Given the description of an element on the screen output the (x, y) to click on. 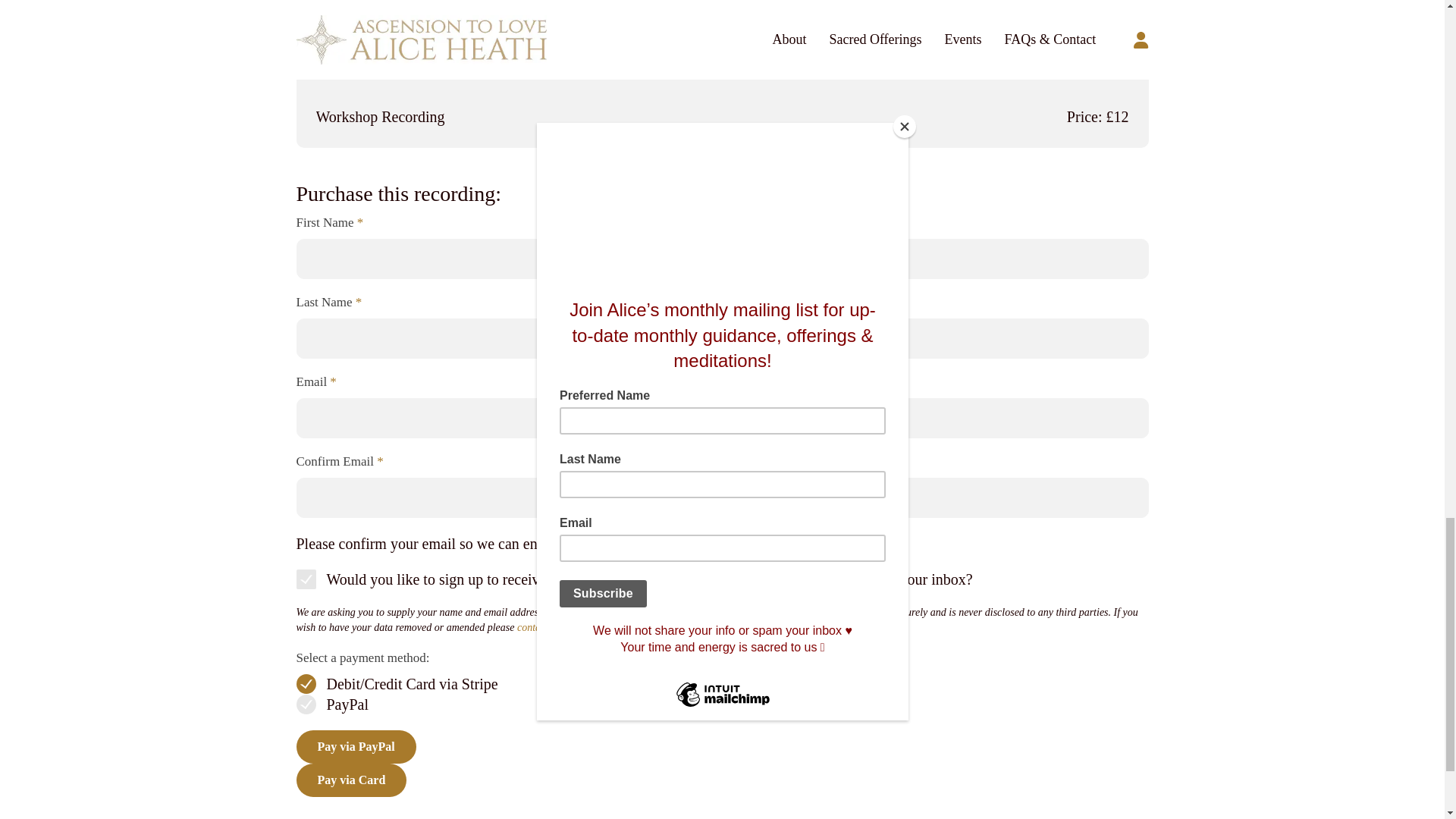
Pay via PayPal (354, 746)
contact us (538, 627)
Buy Now (340, 2)
Pay via Card (350, 779)
